Given the description of an element on the screen output the (x, y) to click on. 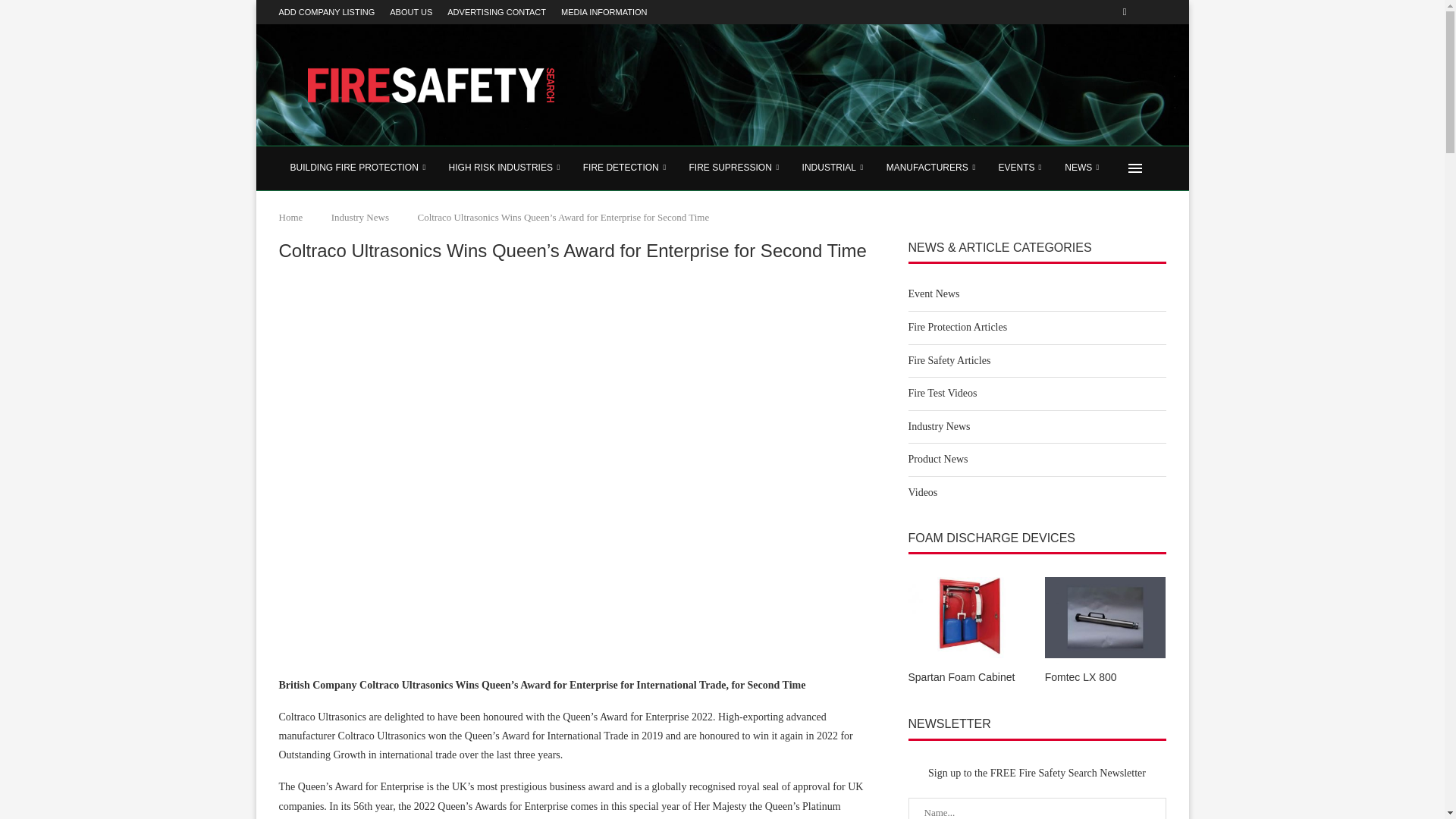
ADD COMPANY LISTING (327, 12)
BUILDING FIRE PROTECTION (358, 167)
ABOUT US (411, 12)
HIGH RISK INDUSTRIES (505, 167)
FIRE SUPRESSION (733, 167)
MEDIA INFORMATION (603, 12)
Spartan Foam Cabinet (968, 677)
FIRE DETECTION (625, 167)
Spartan Foam Cabinet (968, 617)
ADVERTISING CONTACT (496, 12)
